Given the description of an element on the screen output the (x, y) to click on. 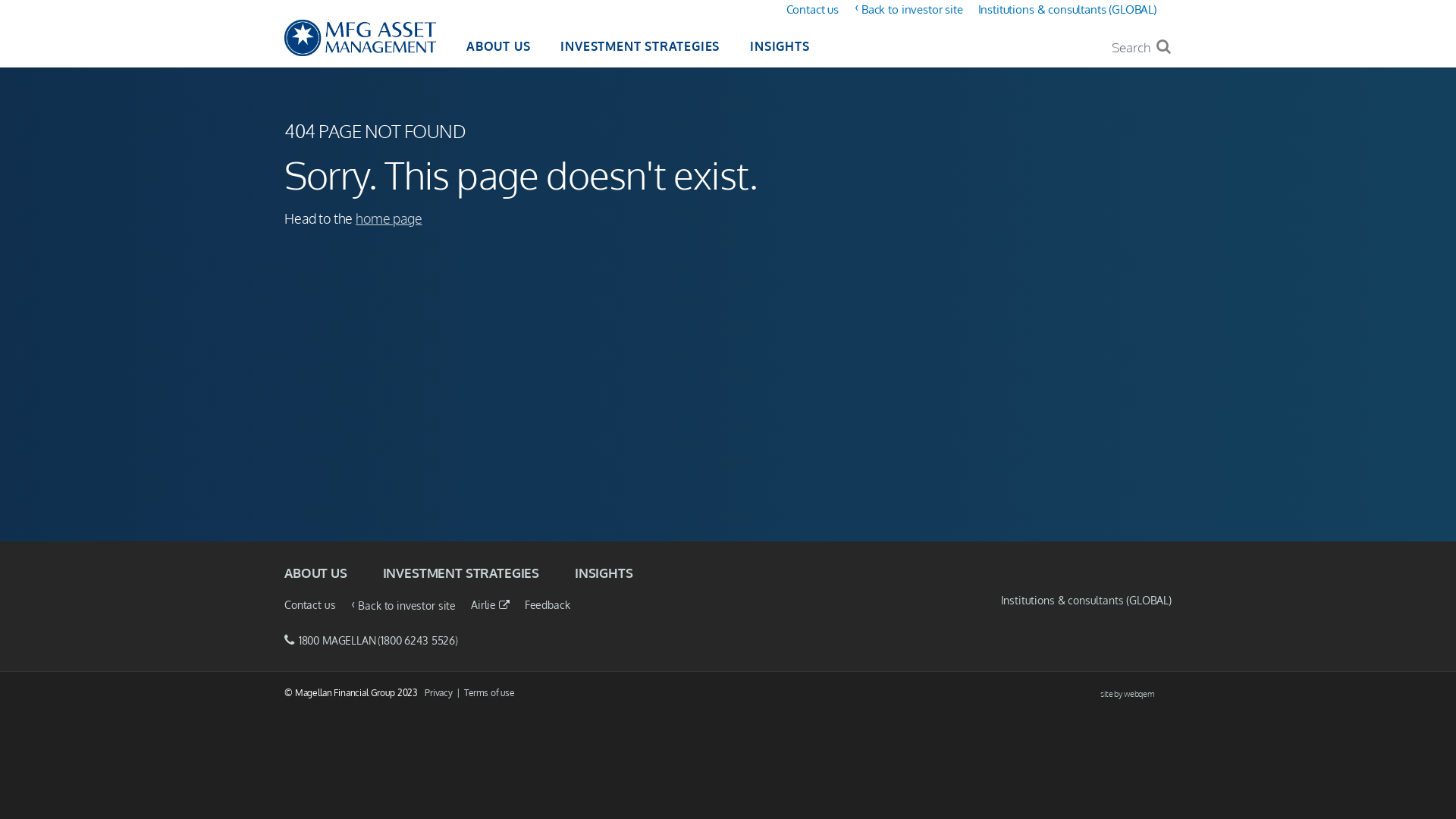
Institutions & consultants (GLOBAL) Element type: text (1067, 9)
Terms of use Element type: text (489, 692)
site by webqem Element type: text (1135, 693)
Airlie Element type: text (489, 604)
1800 6243 5526 Element type: text (417, 639)
ABOUT US Element type: text (498, 47)
INVESTMENT STRATEGIES Element type: text (639, 47)
Institutions & consultants (GLOBAL) Element type: text (1086, 600)
home page Element type: text (388, 218)
Contact us Element type: text (812, 9)
ABOUT US Element type: text (315, 573)
Privacy Element type: text (444, 692)
INSIGHTS Element type: text (779, 47)
Back to investor site Element type: text (912, 9)
Feedback Element type: text (547, 604)
INVESTMENT STRATEGIES Element type: text (460, 573)
INSIGHTS Element type: text (603, 573)
Contact us Element type: text (309, 604)
Back to investor site Element type: text (406, 605)
1800 MAGELLAN Element type: text (337, 639)
